Given the description of an element on the screen output the (x, y) to click on. 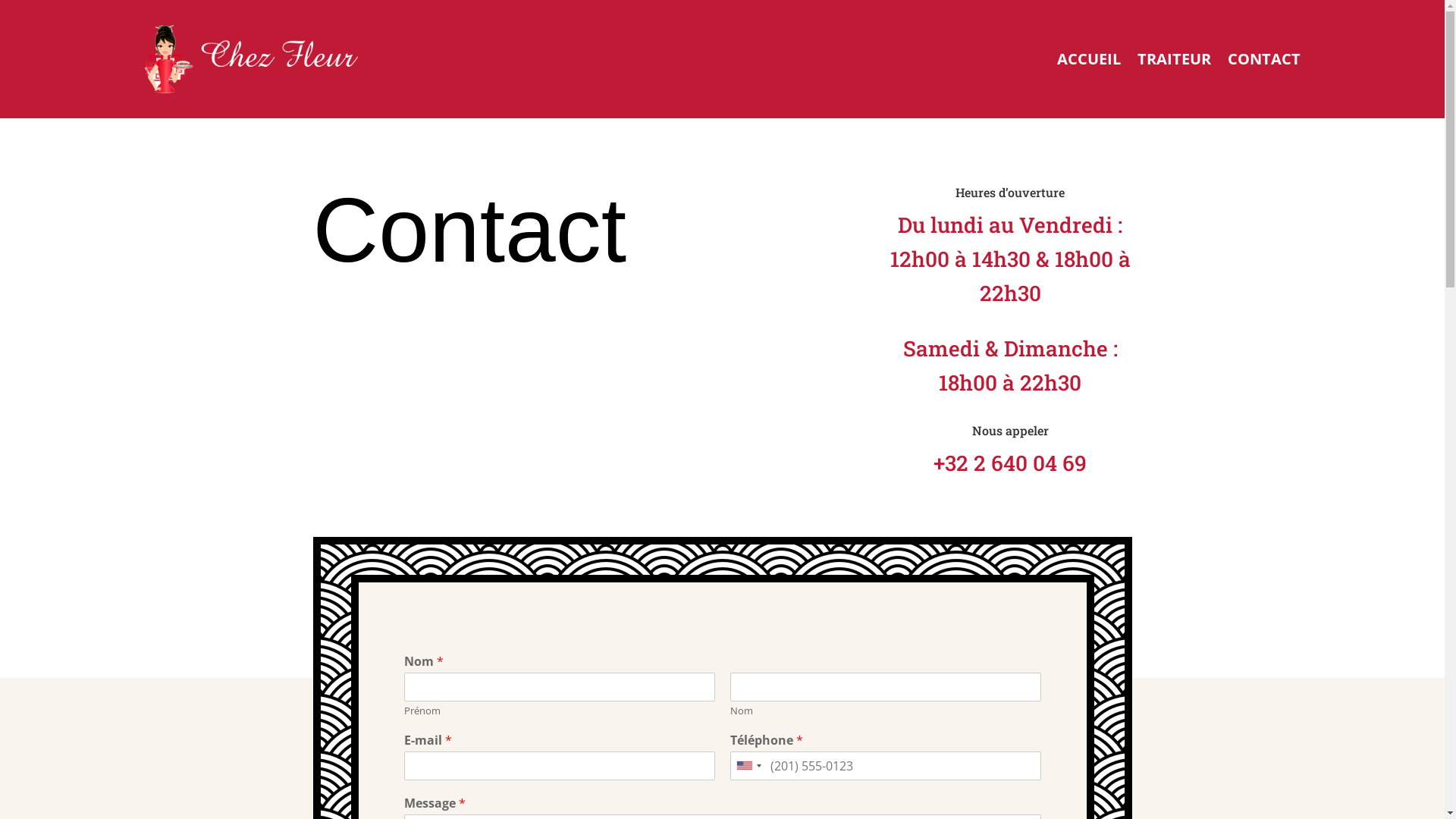
ACCUEIL Element type: text (1088, 59)
United States: +1 Element type: hover (748, 765)
CONTACT Element type: text (1262, 59)
TRAITEUR Element type: text (1174, 59)
+32 2 640 04 69 Element type: text (1009, 462)
